Given the description of an element on the screen output the (x, y) to click on. 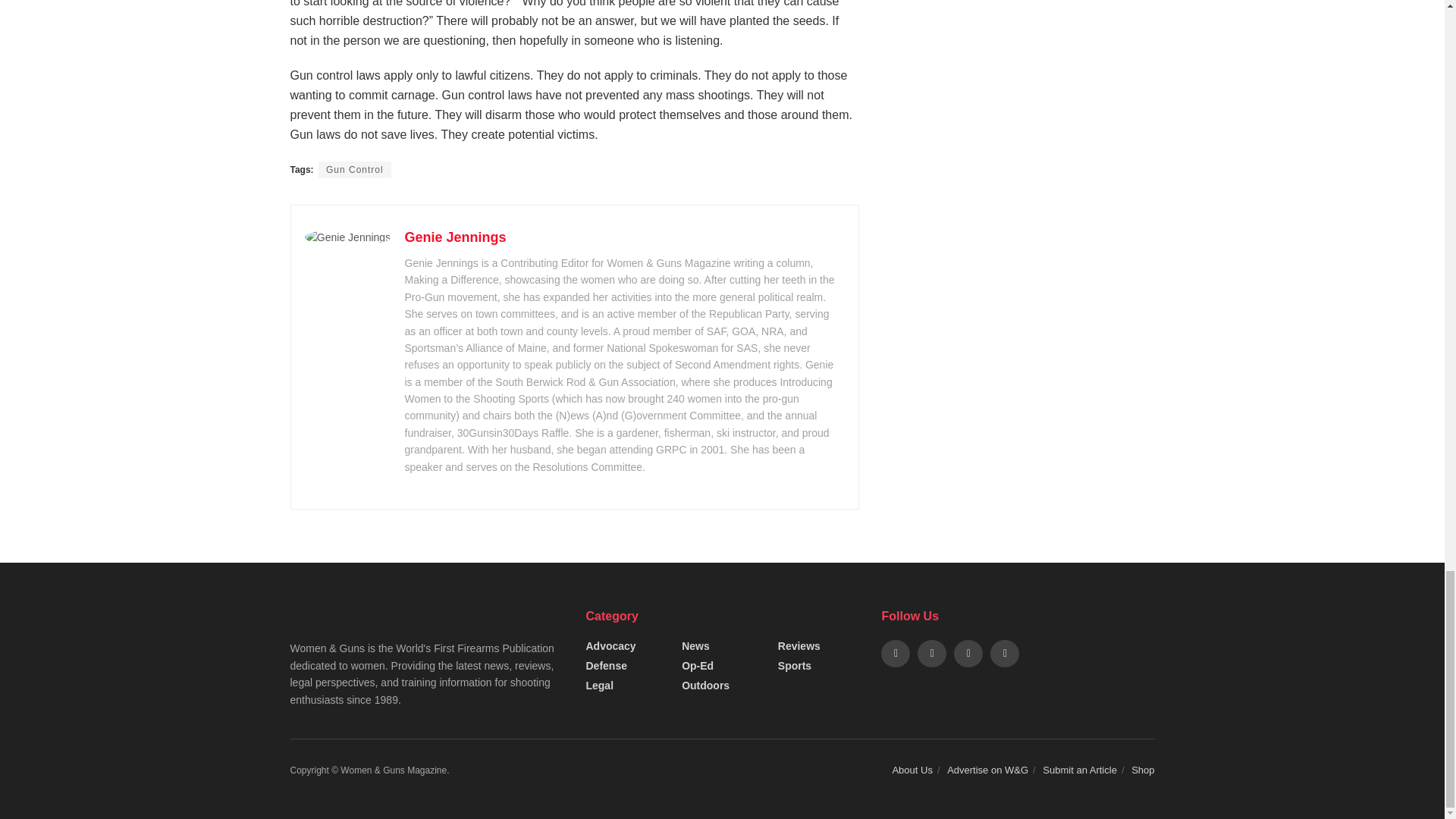
Genie Jennings (455, 237)
Gun Control (354, 169)
